Given the description of an element on the screen output the (x, y) to click on. 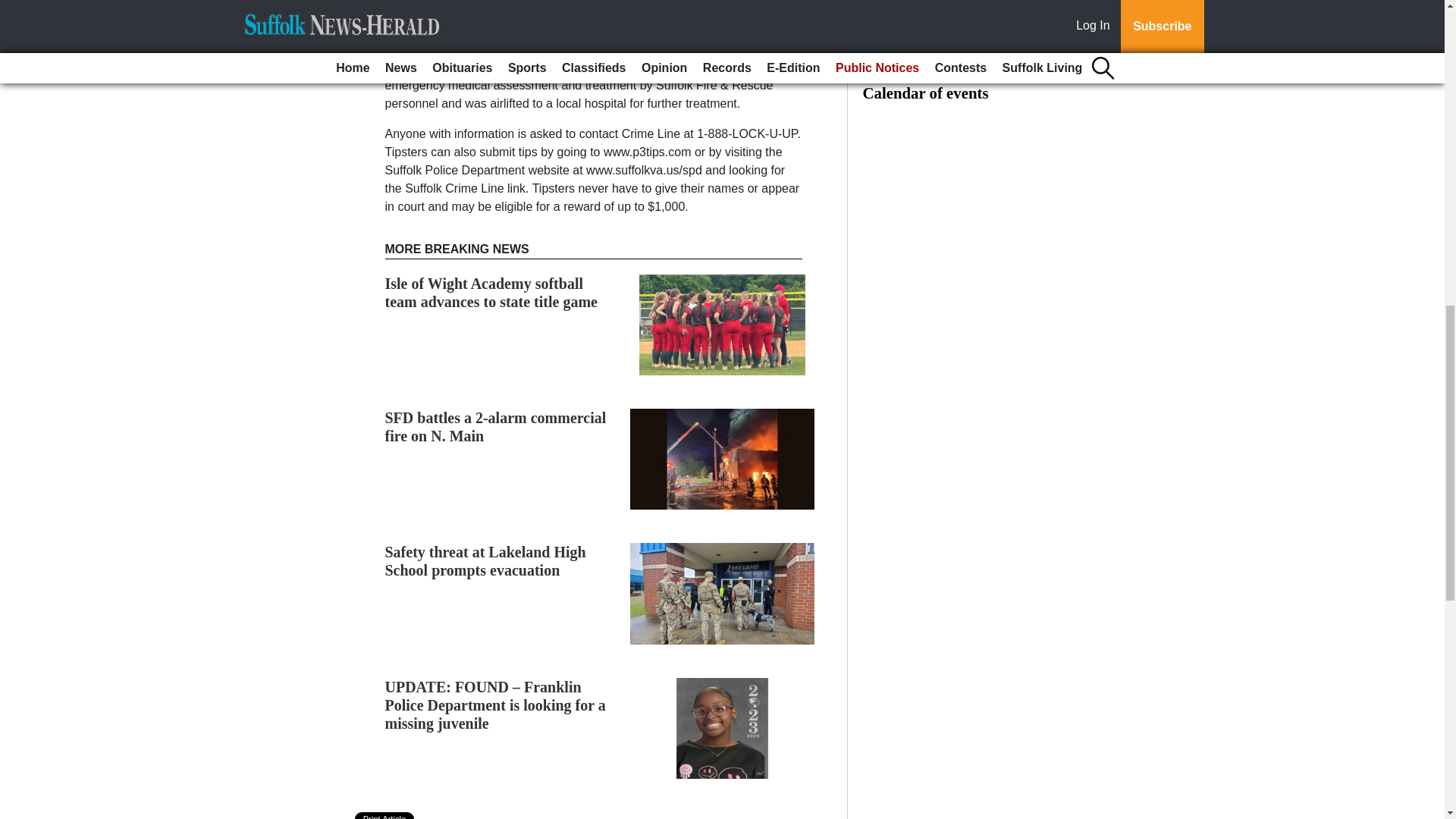
Print Article (384, 815)
SFD battles a 2-alarm commercial fire on N. Main (496, 426)
Safety threat at Lakeland High School prompts evacuation (485, 560)
Safety threat at Lakeland High School prompts evacuation (485, 560)
SFD battles a 2-alarm commercial fire on N. Main (496, 426)
Subscribe (434, 17)
Subscribe (434, 17)
